Given the description of an element on the screen output the (x, y) to click on. 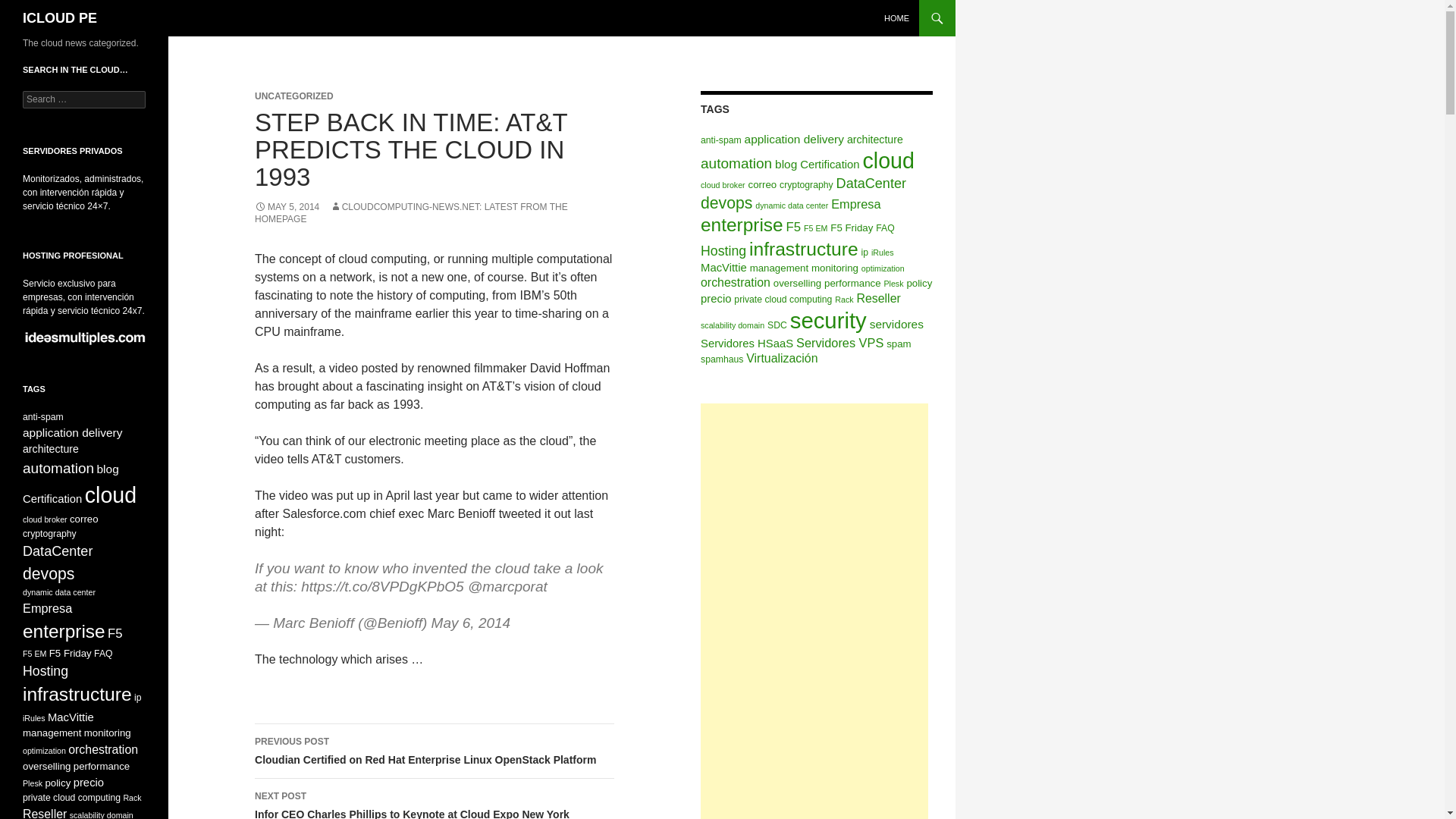
CLOUDCOMPUTING-NEWS.NET: LATEST FROM THE HOMEPAGE (410, 212)
performance (852, 283)
DataCenter (870, 183)
application delivery (794, 138)
blog (785, 164)
MAY 5, 2014 (286, 206)
HOME (896, 18)
iRules (881, 252)
anti-spam (720, 140)
enterprise (741, 224)
monitoring (834, 267)
dynamic data center (791, 204)
Hosting (722, 250)
Empresa (855, 203)
